Given the description of an element on the screen output the (x, y) to click on. 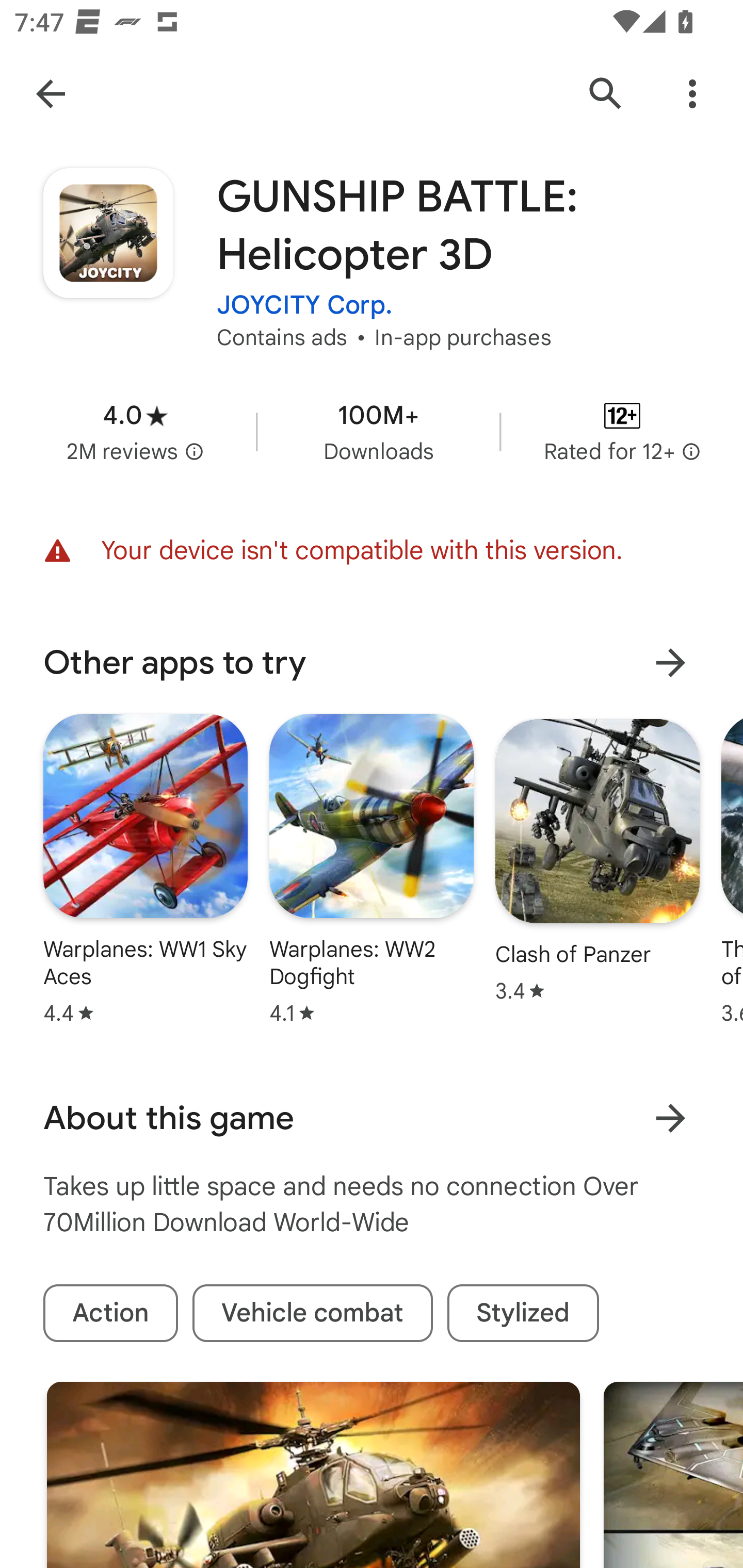
Navigate up (50, 93)
Search Google Play (605, 93)
More Options (692, 93)
JOYCITY Corp. (304, 304)
Average rating 4.0 stars in 2 million reviews (135, 431)
Content rating Rated for 12+ (622, 431)
More results for Other apps to try (670, 662)
Warplanes: WW1 Sky Aces
Star rating: 4.4
 (145, 868)
Warplanes: WW2 Dogfight
Star rating: 4.1
 (371, 868)
Clash of Panzer
Star rating: 3.4
 (597, 859)
About this game Learn more About this game (371, 1117)
Learn more About this game (670, 1118)
Action tag (110, 1313)
Vehicle combat tag (312, 1313)
Stylized tag (522, 1313)
Play trailer for "GUNSHIP BATTLE: Helicopter 3D" (313, 1474)
